Given the description of an element on the screen output the (x, y) to click on. 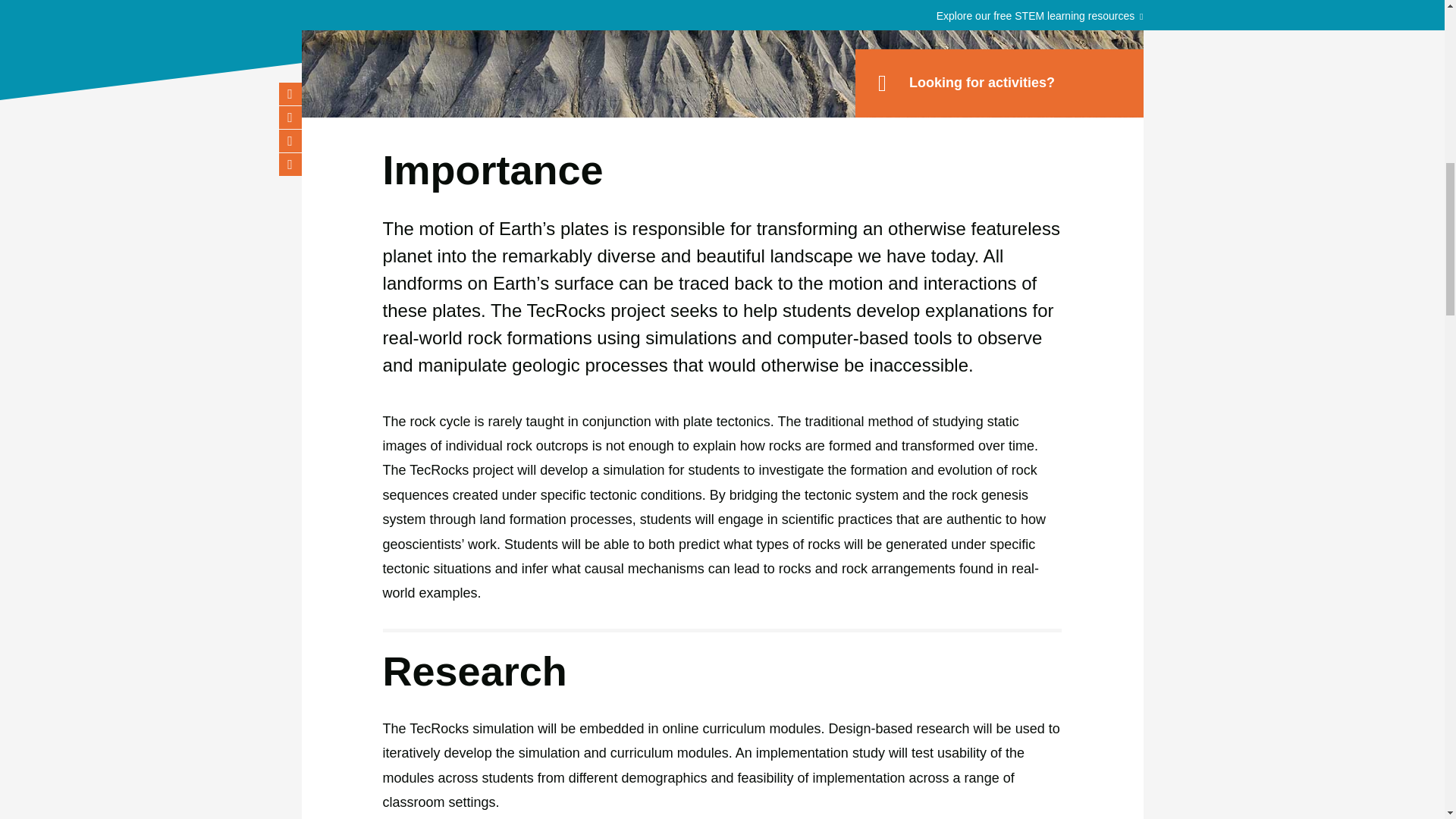
Looking for activities? (999, 83)
